Given the description of an element on the screen output the (x, y) to click on. 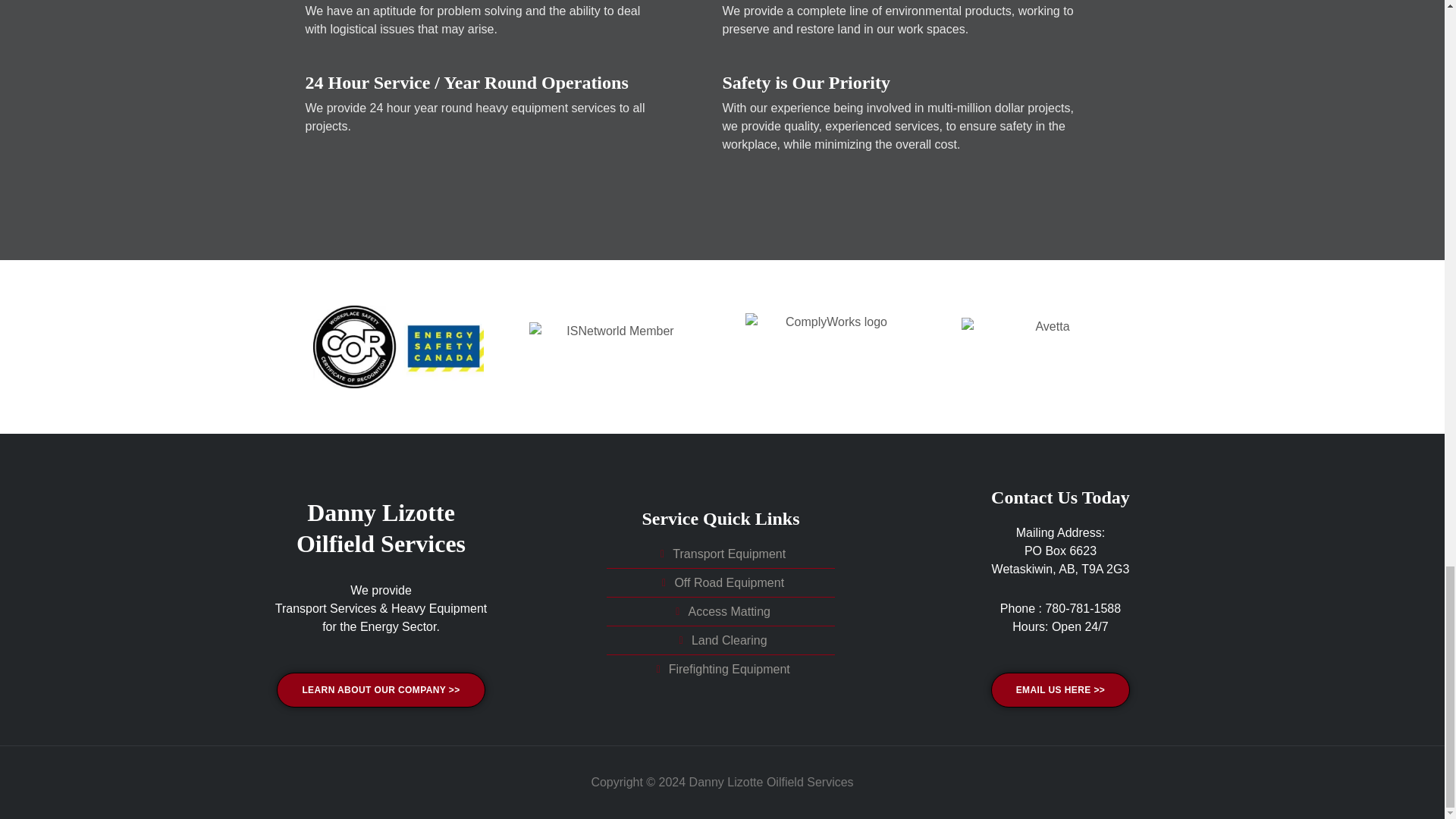
Land Clearing (720, 640)
Transport Equipment (720, 554)
Off Road Equipment (720, 583)
Firefighting Equipment (720, 669)
Access Matting (720, 611)
Danny Lizotte Oilfield Services (381, 527)
